Given the description of an element on the screen output the (x, y) to click on. 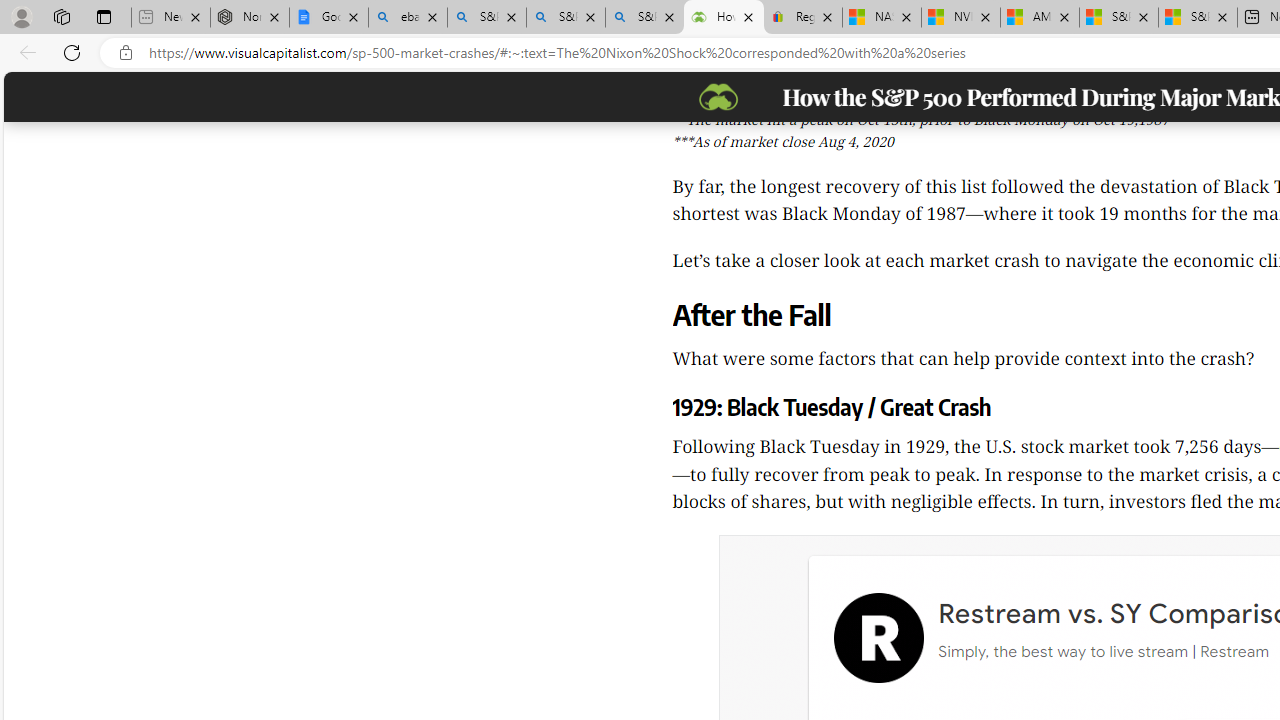
S&P 500, Nasdaq end lower, weighed by Nvidia dip | Watch (1197, 17)
Google Docs: Online Document Editor | Google Workspace (329, 17)
How the S&P 500 Performed During Major Market Crashes (723, 17)
Restream (878, 638)
